Given the description of an element on the screen output the (x, y) to click on. 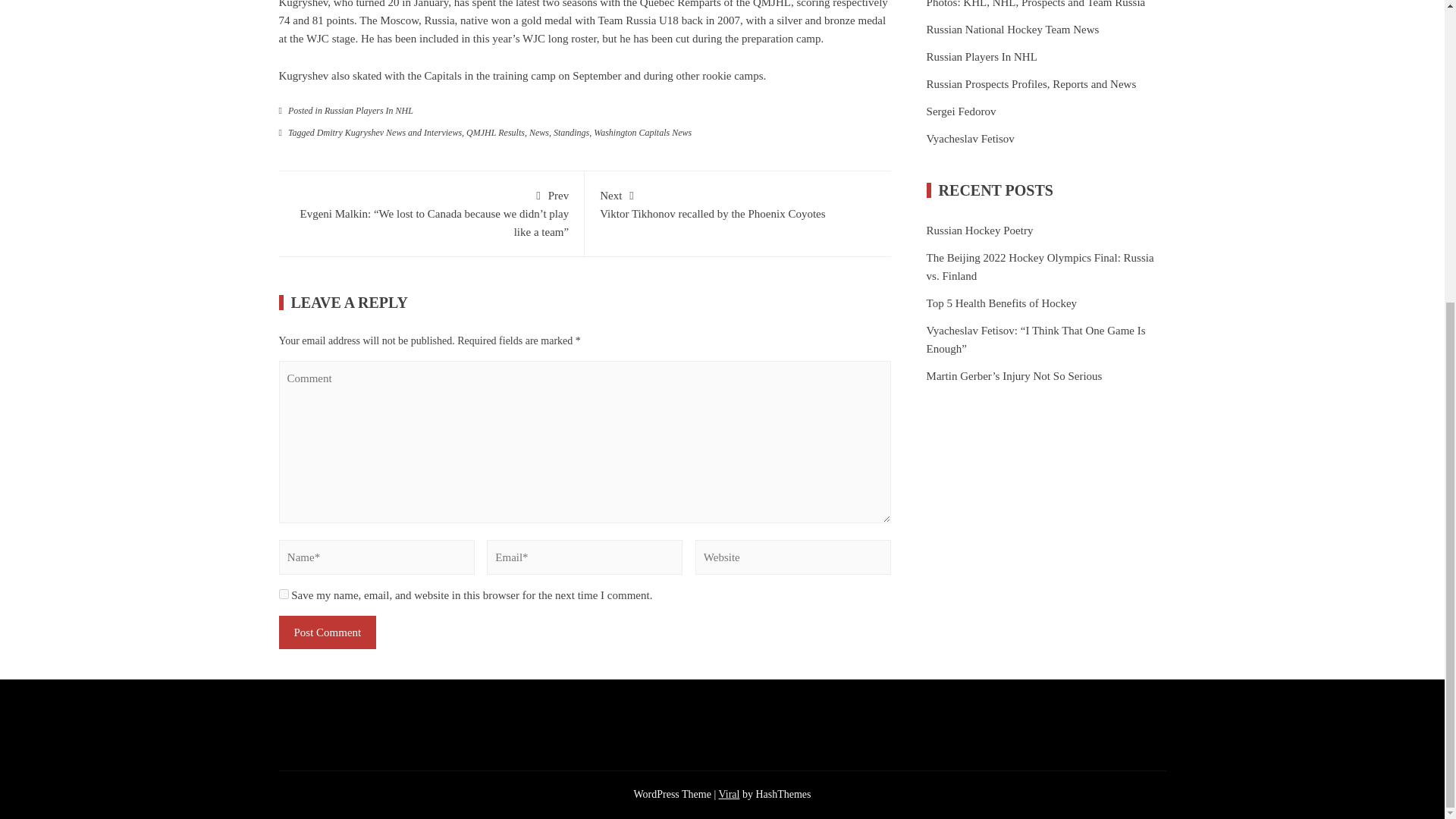
Russian Players In NHL (368, 110)
Russian Players In NHL (981, 56)
Russian National Hockey Team News (1012, 29)
yes (283, 593)
Washington Capitals News (642, 132)
Post Comment (328, 632)
Top 5 Health Benefits of Hockey (1001, 303)
The Beijing 2022 Hockey Olympics Final: Russia vs. Finland (737, 203)
Download Viral (1040, 266)
Russian Prospects Profiles, Reports and News (728, 794)
Kugryshev (1031, 84)
Vyacheslav Fetisov (304, 75)
Dmitry Kugryshev News and Interviews (970, 138)
Photos: KHL, NHL, Prospects and Team Russia (389, 132)
